Given the description of an element on the screen output the (x, y) to click on. 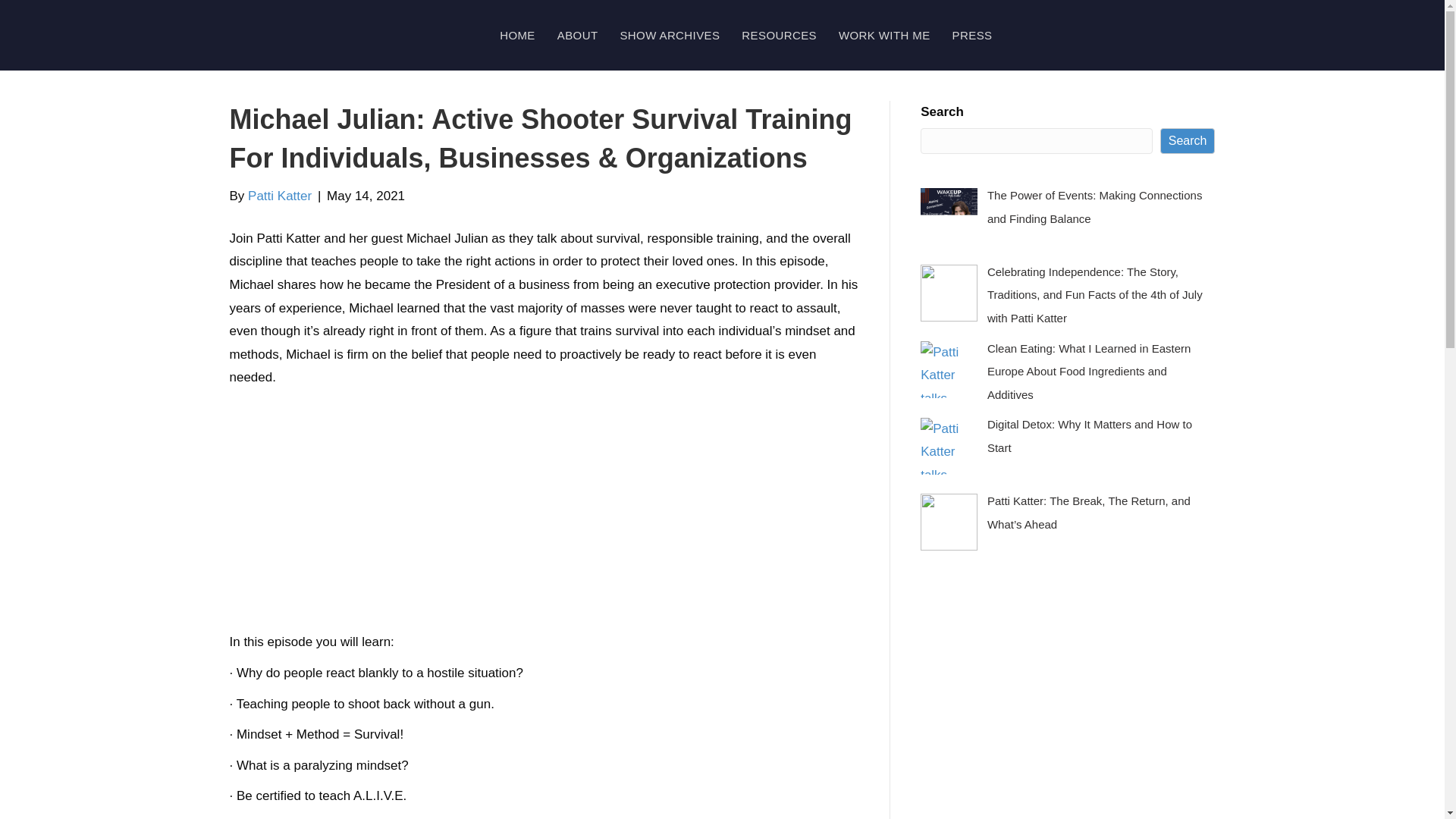
PRESS (972, 34)
Digital Detox: Why It Matters and How to Start (1089, 435)
Search (1187, 140)
ABOUT (577, 34)
HOME (517, 34)
SHOW ARCHIVES (669, 34)
RESOURCES (778, 34)
Patti Katter (279, 196)
